Given the description of an element on the screen output the (x, y) to click on. 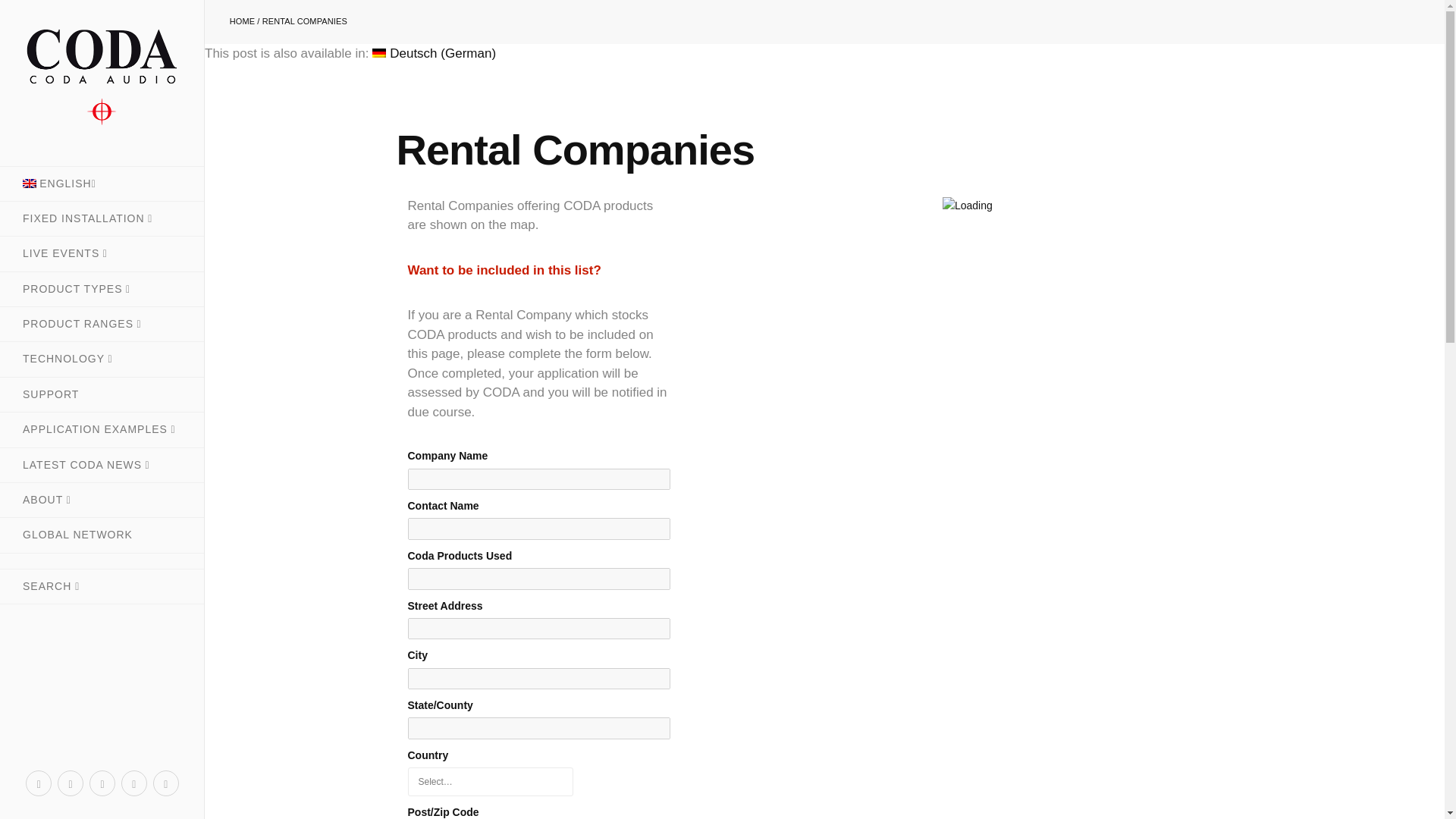
ENGLISH (101, 183)
FIXED INSTALLATION (101, 218)
English (101, 183)
SEARCH (101, 586)
PRODUCT TYPES (101, 288)
PRODUCT RANGES (101, 324)
LIVE EVENTS (101, 253)
